Given the description of an element on the screen output the (x, y) to click on. 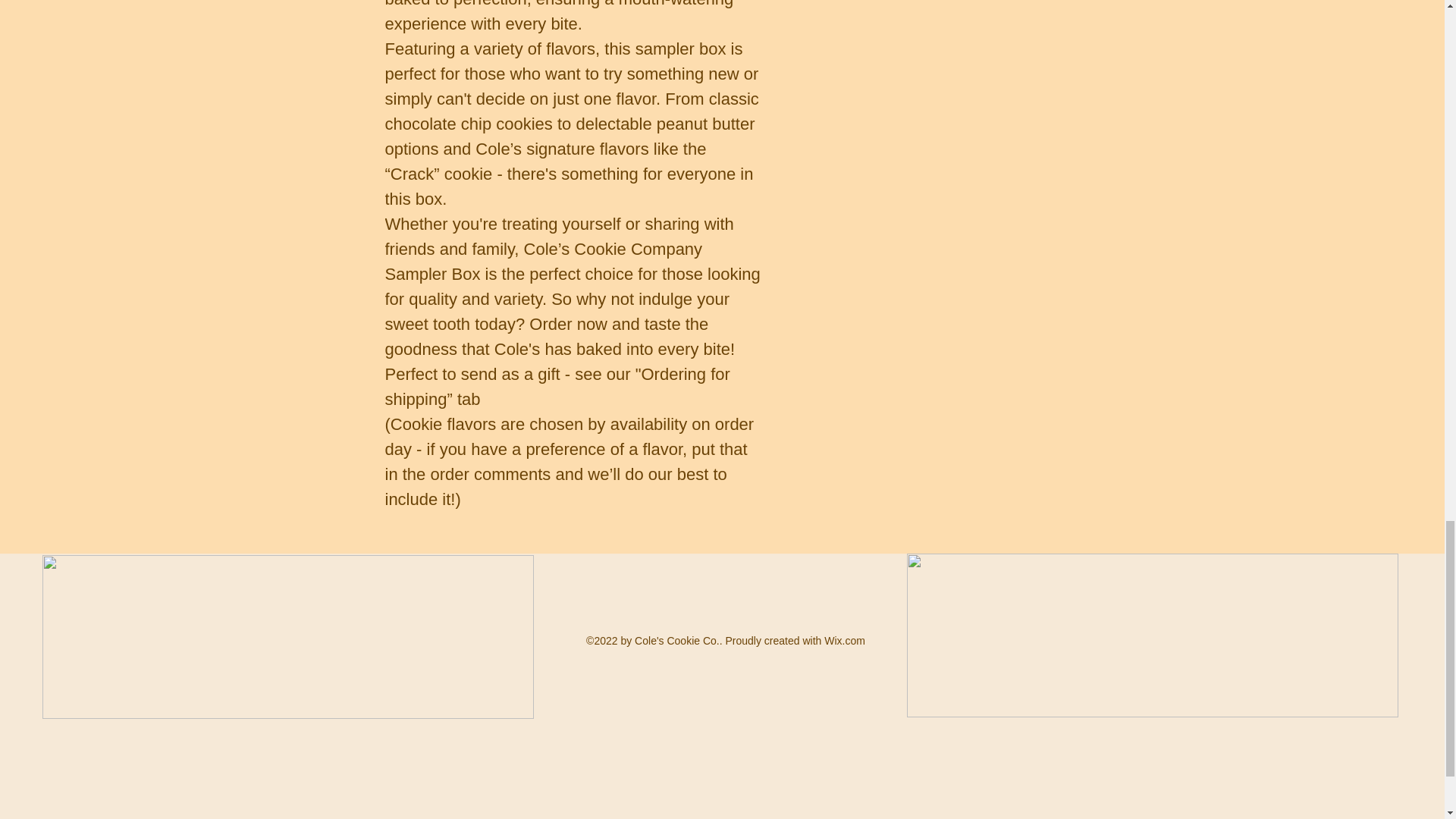
Cream Illustration Email Header.png (288, 637)
Cream Illustration Email Header.png (1152, 635)
